Given the description of an element on the screen output the (x, y) to click on. 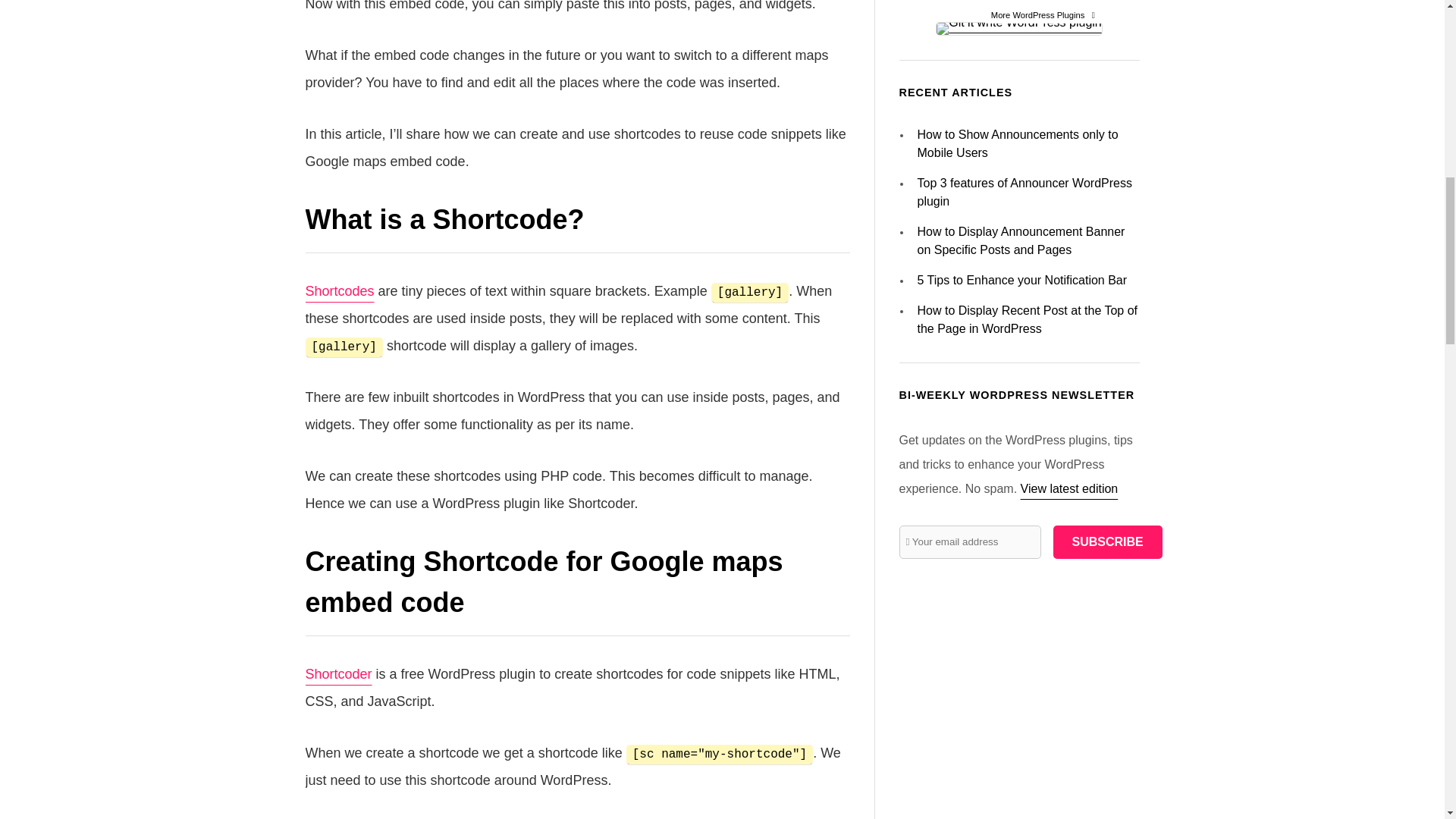
Shortcoder (337, 673)
Shortcodes (339, 290)
Subscribe (1106, 283)
